Given the description of an element on the screen output the (x, y) to click on. 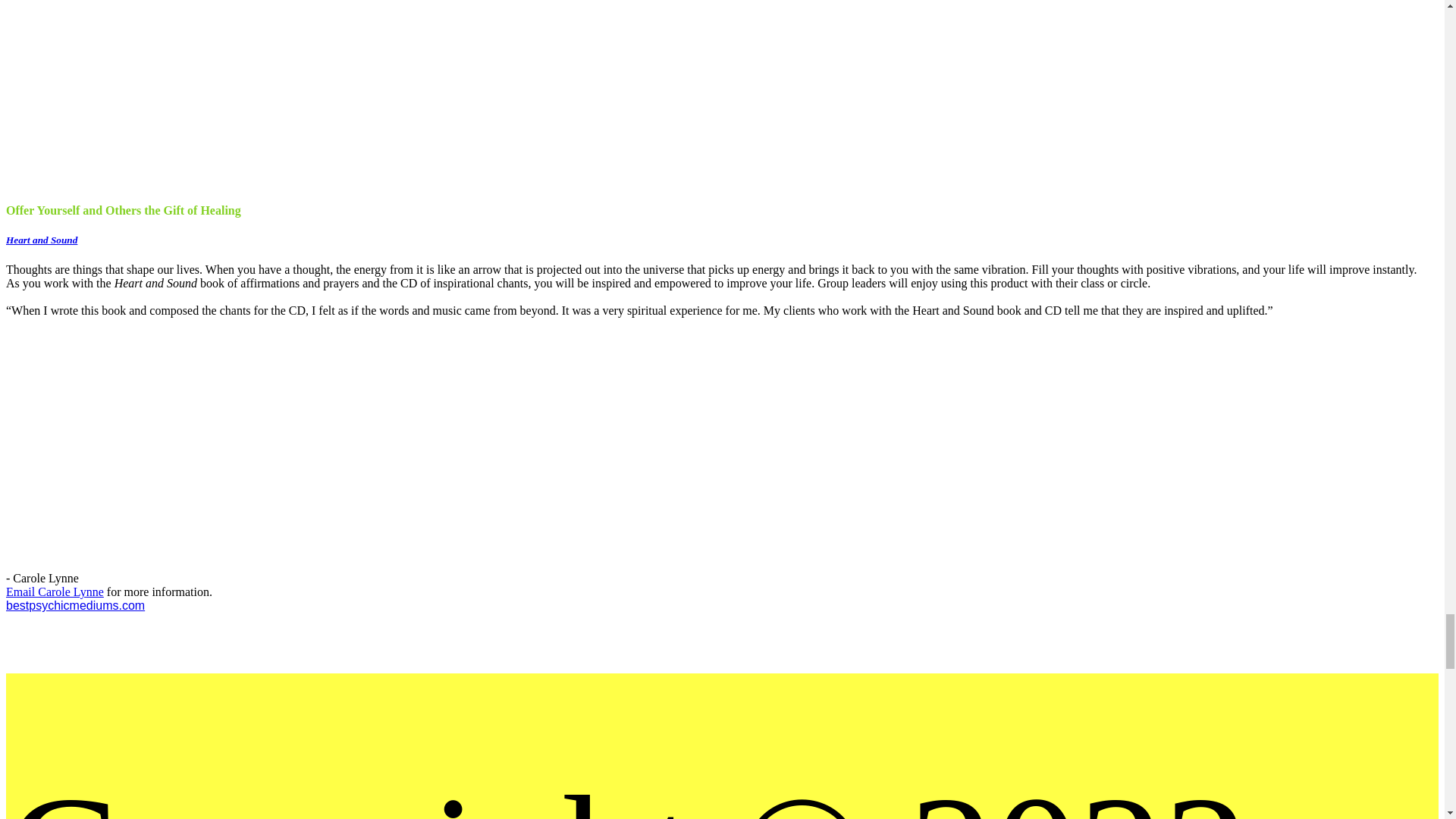
bestpsychicmediums.com (74, 604)
Email Carole Lynne (54, 591)
Heart and Sound (41, 239)
